Given the description of an element on the screen output the (x, y) to click on. 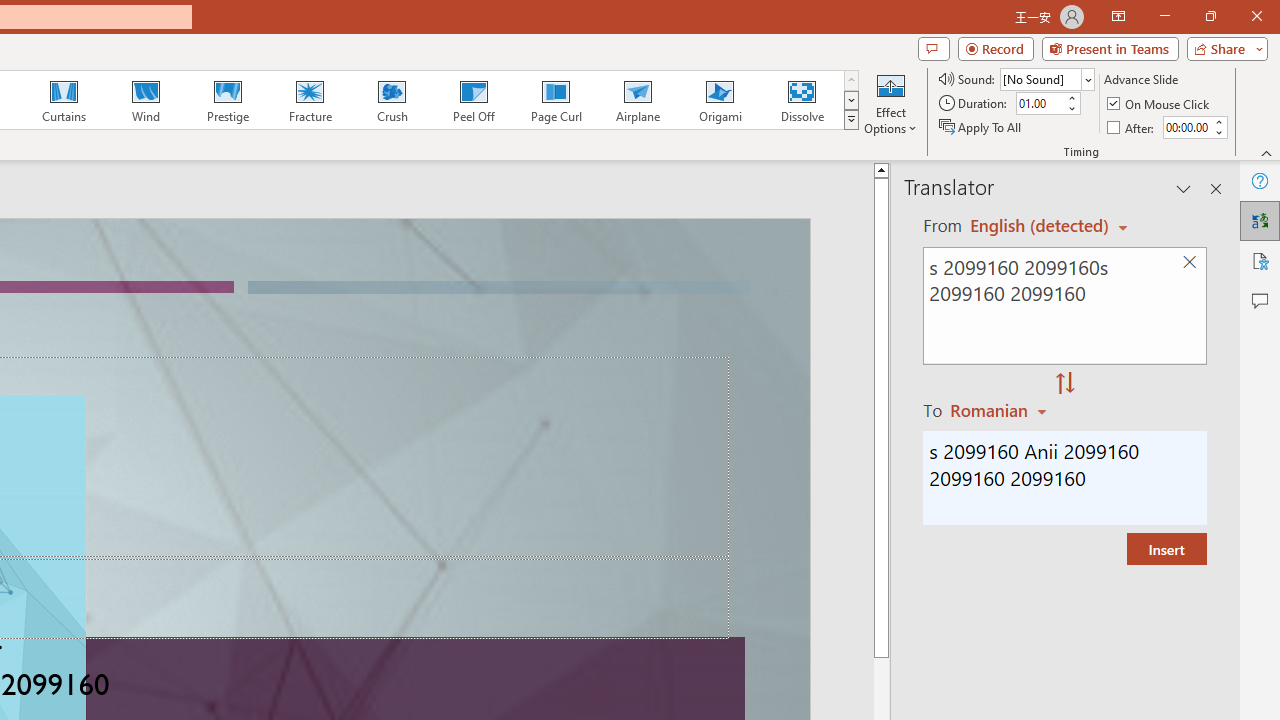
Dissolve (802, 100)
Crush (391, 100)
Czech (detected) (1039, 225)
Peel Off (473, 100)
After (1186, 127)
On Mouse Click (1159, 103)
Transition Effects (850, 120)
Clear text (1189, 262)
